Given the description of an element on the screen output the (x, y) to click on. 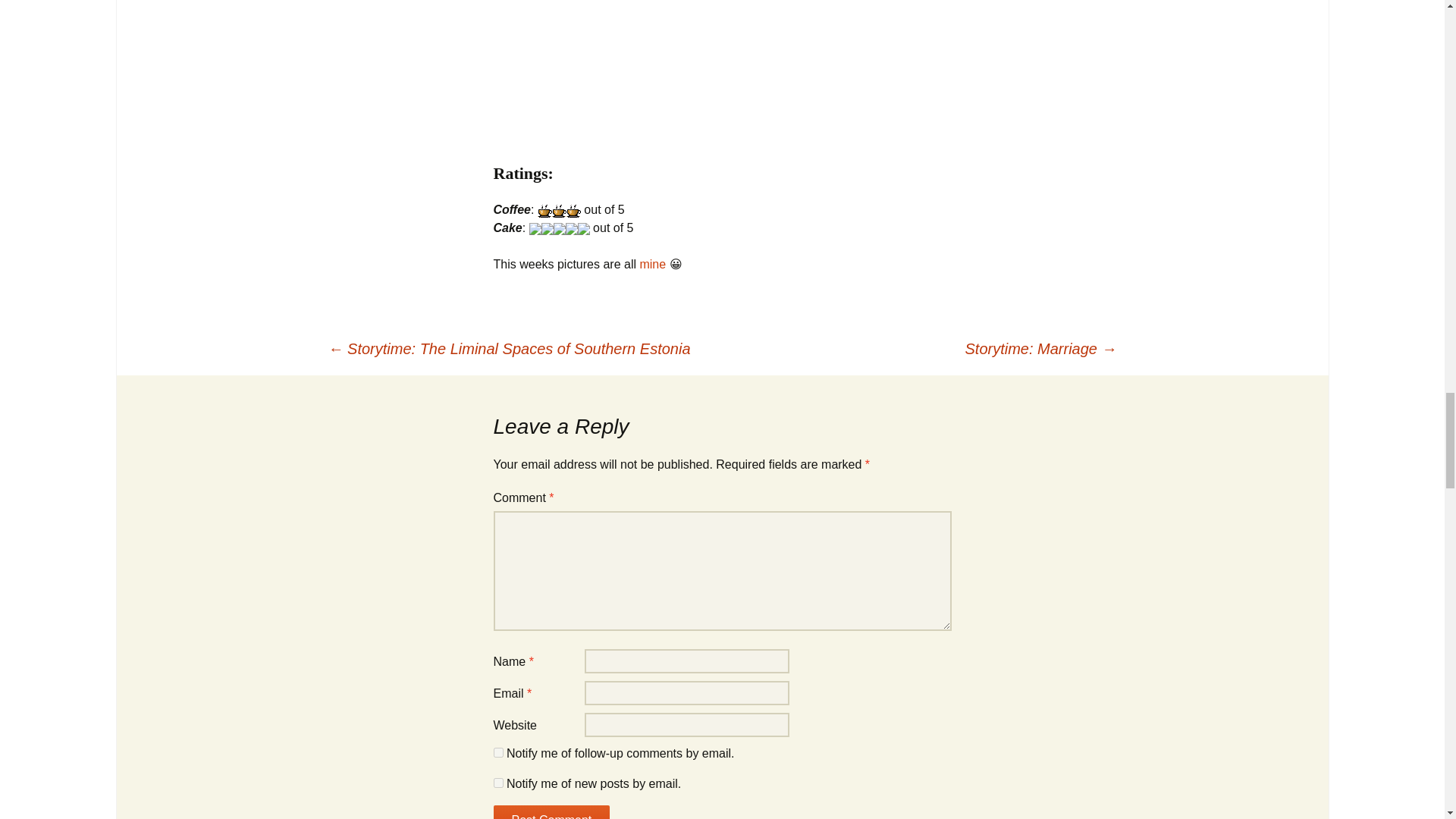
Post Comment (551, 812)
Post Comment (551, 812)
subscribe (497, 752)
mine (652, 264)
subscribe (497, 782)
